Given the description of an element on the screen output the (x, y) to click on. 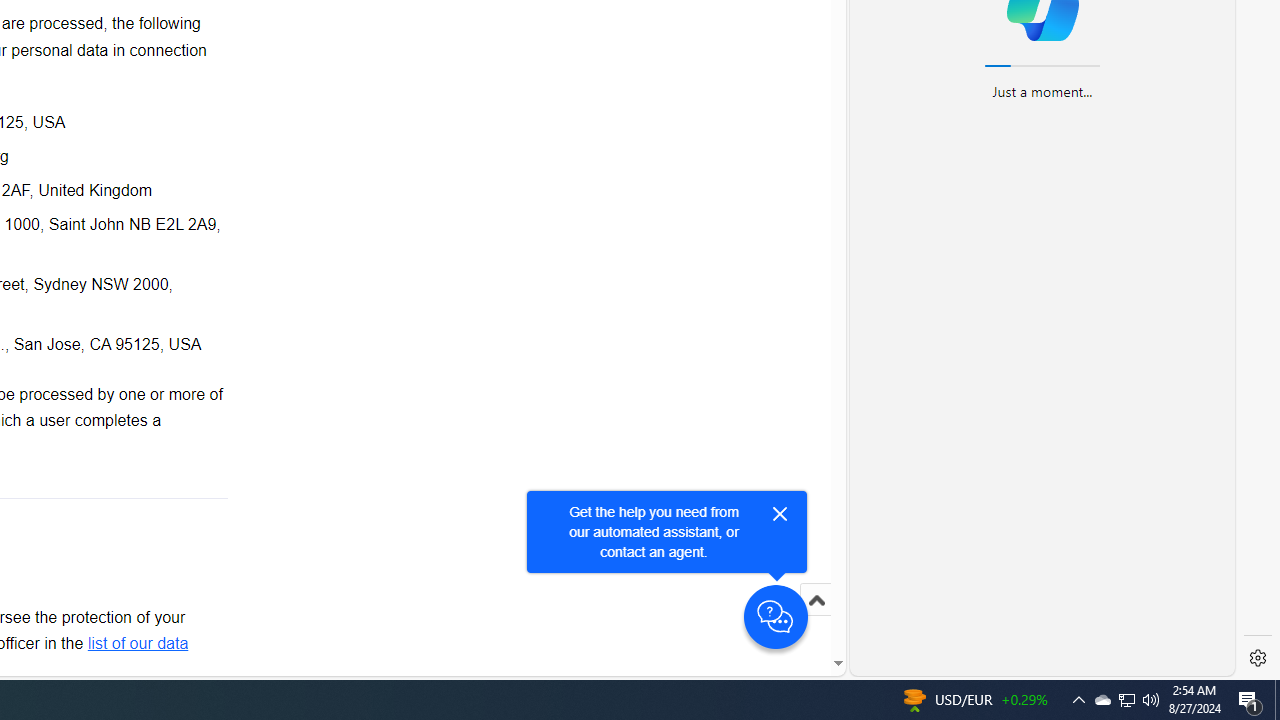
Scroll to top (816, 620)
Scroll to top (816, 599)
